Given the description of an element on the screen output the (x, y) to click on. 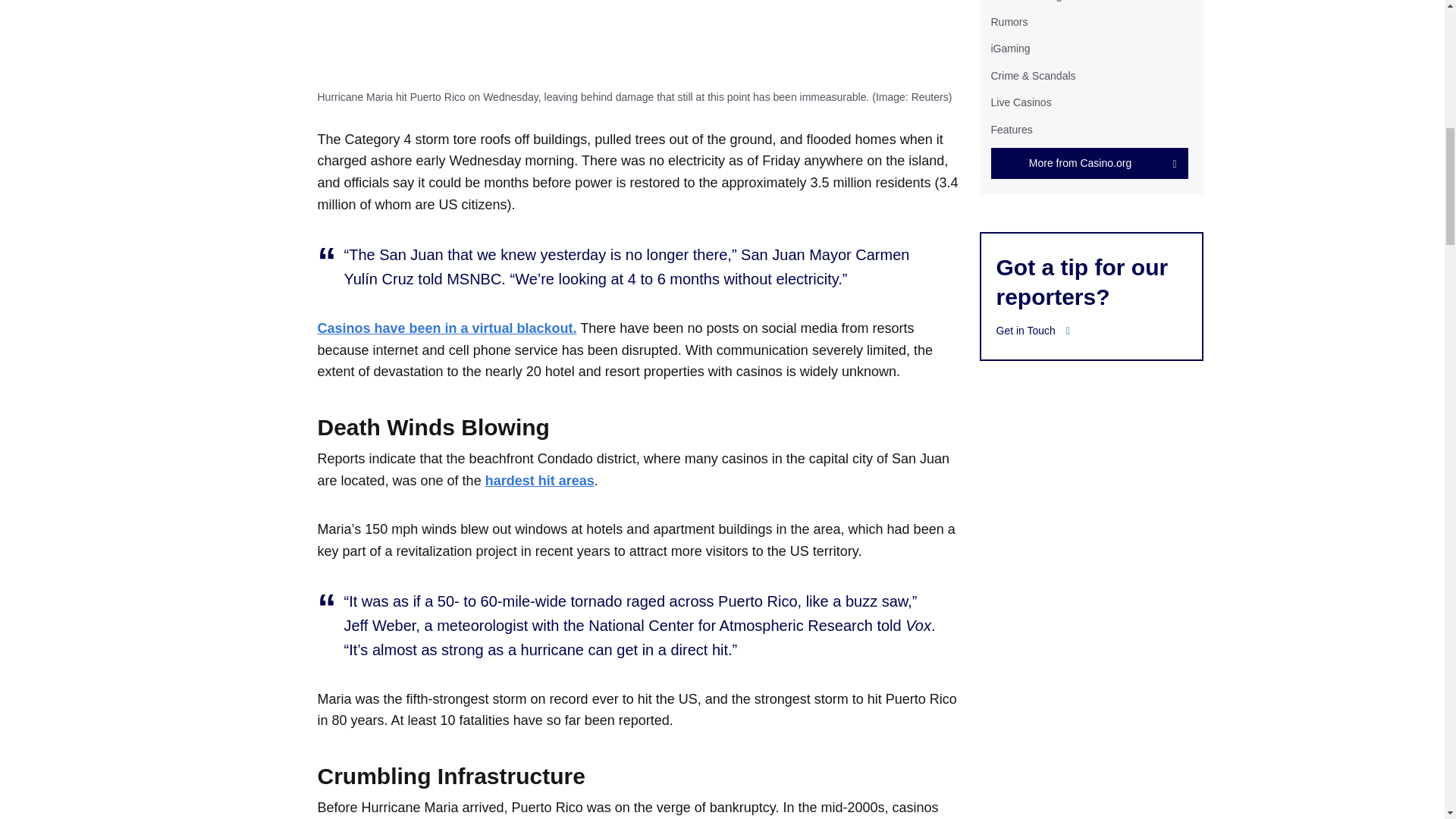
Mobile Gaming (1025, 0)
hardest hit areas (539, 480)
Rumors (1008, 21)
Mobile Gaming (1025, 0)
Features (1011, 128)
Casinos have been in a virtual blackout. (446, 328)
iGaming (1009, 48)
Rumors (1008, 21)
Live Casinos (1020, 102)
